Given the description of an element on the screen output the (x, y) to click on. 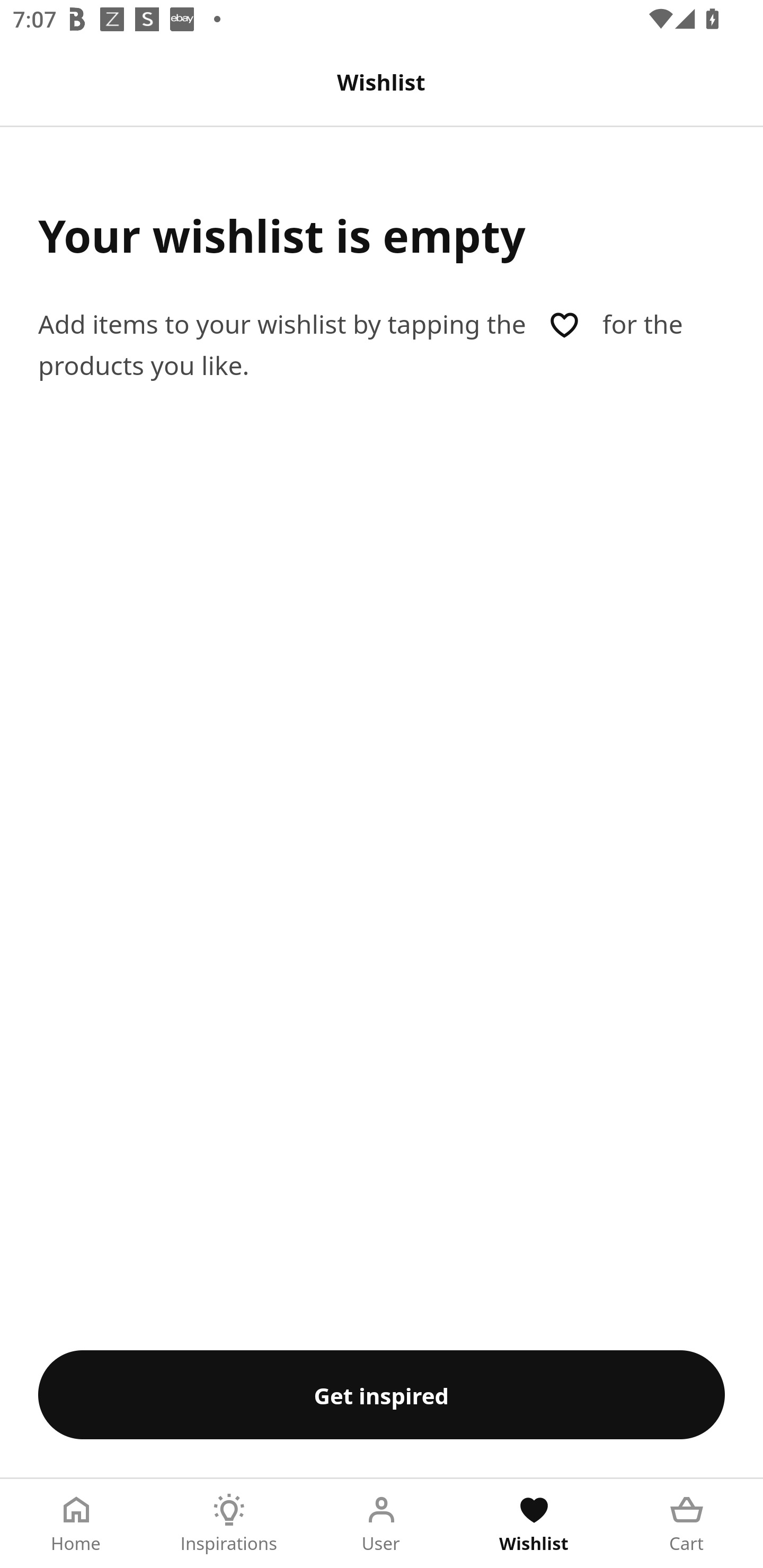
Get inspired (381, 1394)
Home
Tab 1 of 5 (76, 1522)
Inspirations
Tab 2 of 5 (228, 1522)
User
Tab 3 of 5 (381, 1522)
Wishlist
Tab 4 of 5 (533, 1522)
Cart
Tab 5 of 5 (686, 1522)
